Given the description of an element on the screen output the (x, y) to click on. 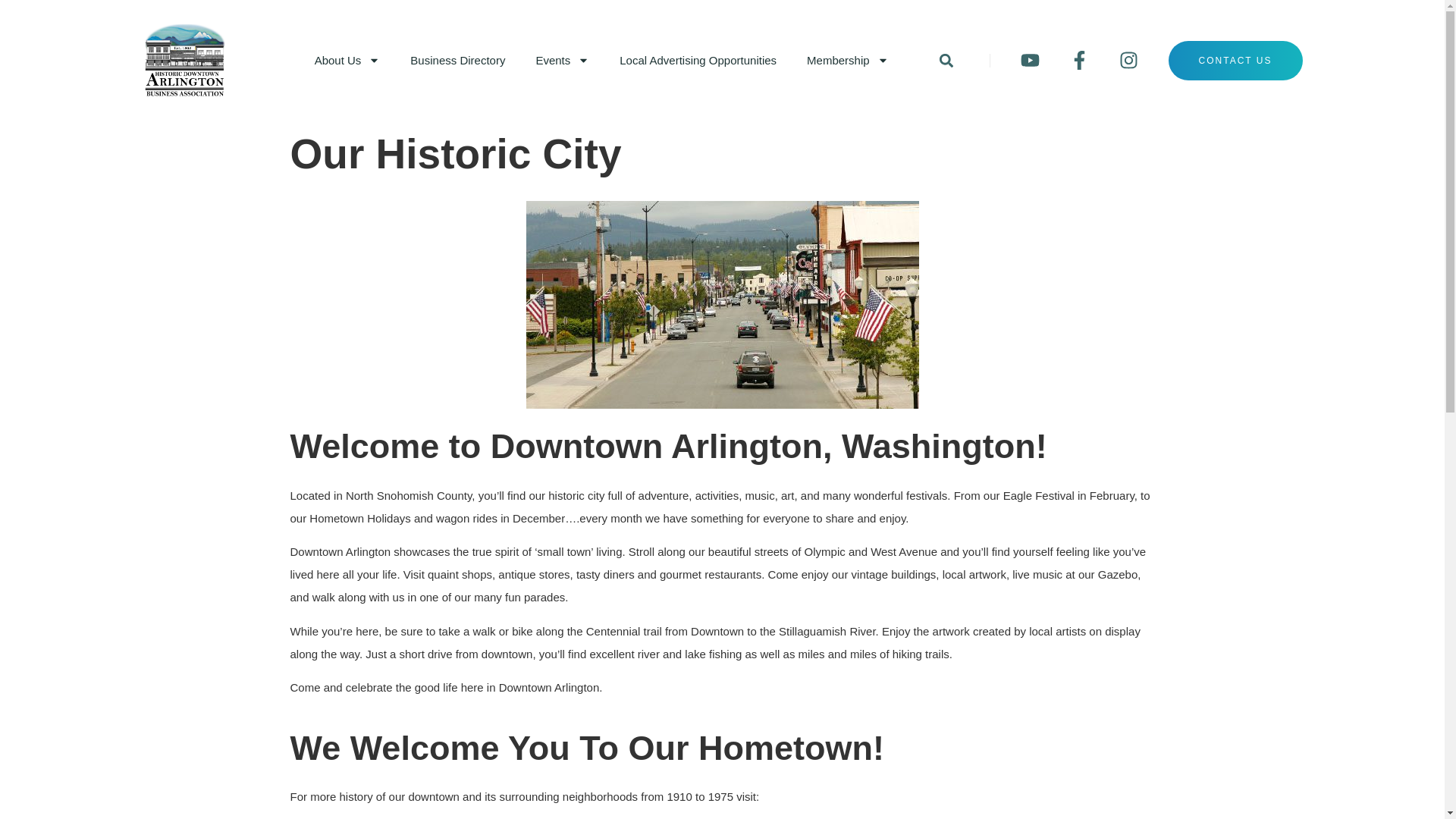
Local Advertising Opportunities (698, 60)
Business Directory (456, 60)
Events (561, 60)
About Us (347, 60)
Membership (848, 60)
